Given the description of an element on the screen output the (x, y) to click on. 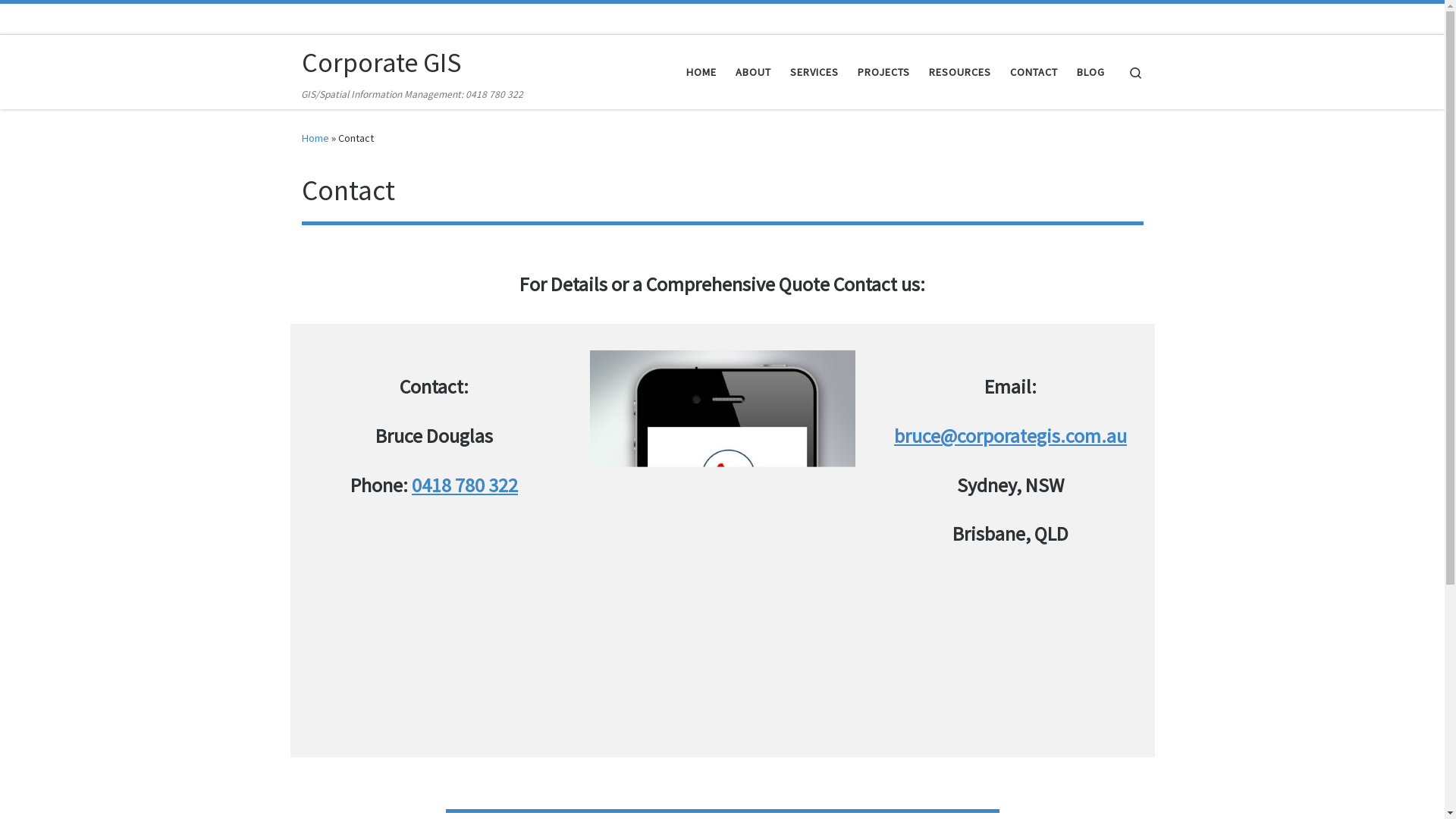
Corporate GIS Element type: text (381, 62)
BLOG Element type: text (1090, 71)
SERVICES Element type: text (813, 71)
ABOUT Element type: text (752, 71)
Home Element type: text (315, 137)
Search Element type: text (1135, 71)
RESOURCES Element type: text (959, 71)
PROJECTS Element type: text (883, 71)
0418 780 322 Element type: text (464, 484)
HOME Element type: text (700, 71)
Skip to content Element type: text (57, 21)
CONTACT Element type: text (1033, 71)
Contact (2) Element type: hover (722, 540)
bruce@corporategis.com.au Element type: text (1010, 435)
